Given the description of an element on the screen output the (x, y) to click on. 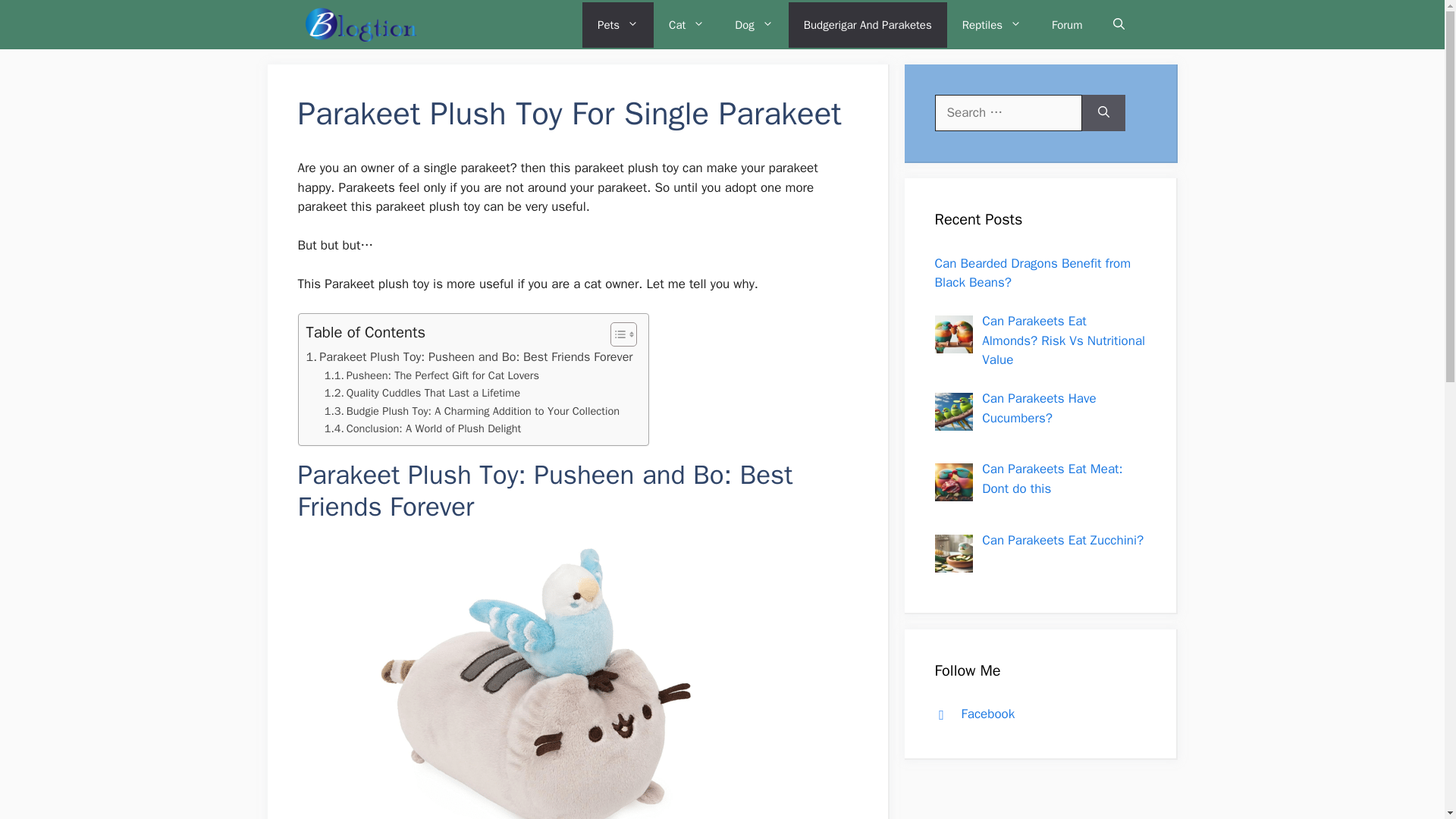
Dog (753, 23)
Quality Cuddles That Last a Lifetime (421, 393)
Parakeet Plush Toy: Pusheen and Bo: Best Friends Forever (469, 356)
Parakeet Plush Toy: Pusheen and Bo: Best Friends Forever (469, 356)
Budgie Plush Toy: A Charming Addition to Your Collection (472, 411)
Blogtion (360, 24)
Reptiles (991, 23)
Budgerigar And Paraketes (868, 23)
Search for: (1007, 113)
Pets (617, 23)
Conclusion: A World of Plush Delight (422, 428)
Facebook (971, 713)
Cat (686, 23)
Pusheen: The Perfect Gift for Cat Lovers (431, 375)
Forum (1066, 23)
